Given the description of an element on the screen output the (x, y) to click on. 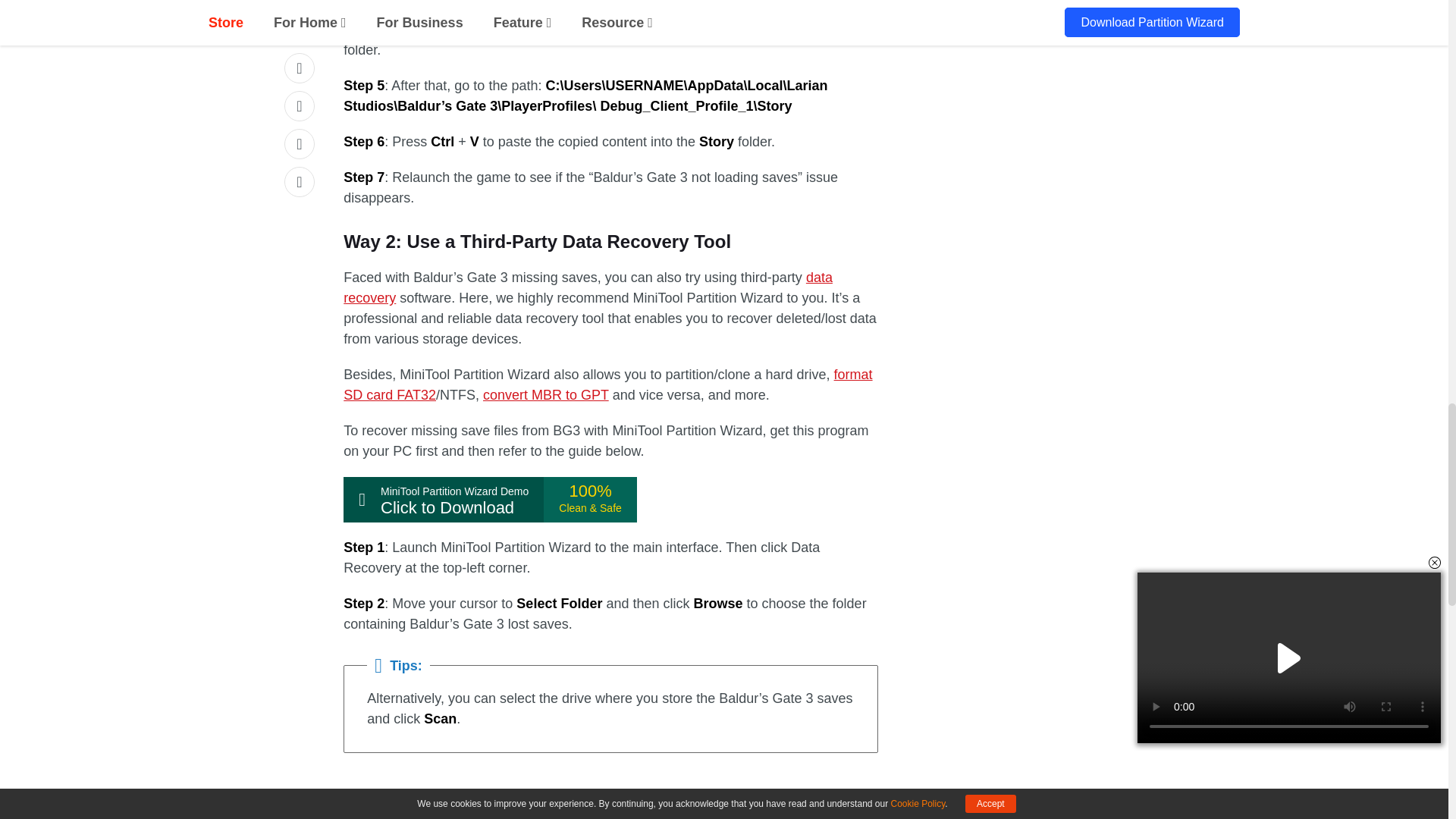
data recovery (587, 287)
